Given the description of an element on the screen output the (x, y) to click on. 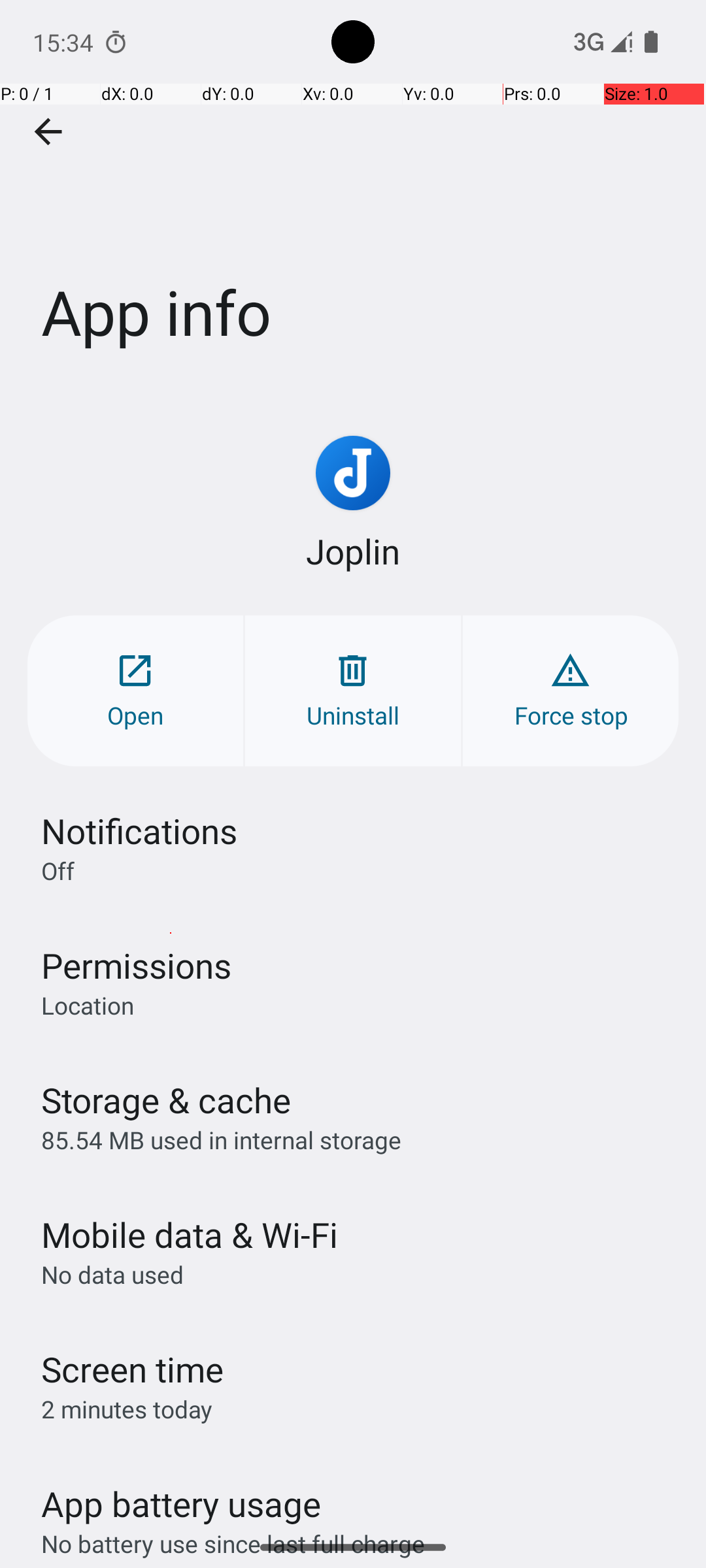
85.54 MB used in internal storage Element type: android.widget.TextView (221, 1139)
2 minutes today Element type: android.widget.TextView (127, 1408)
